Given the description of an element on the screen output the (x, y) to click on. 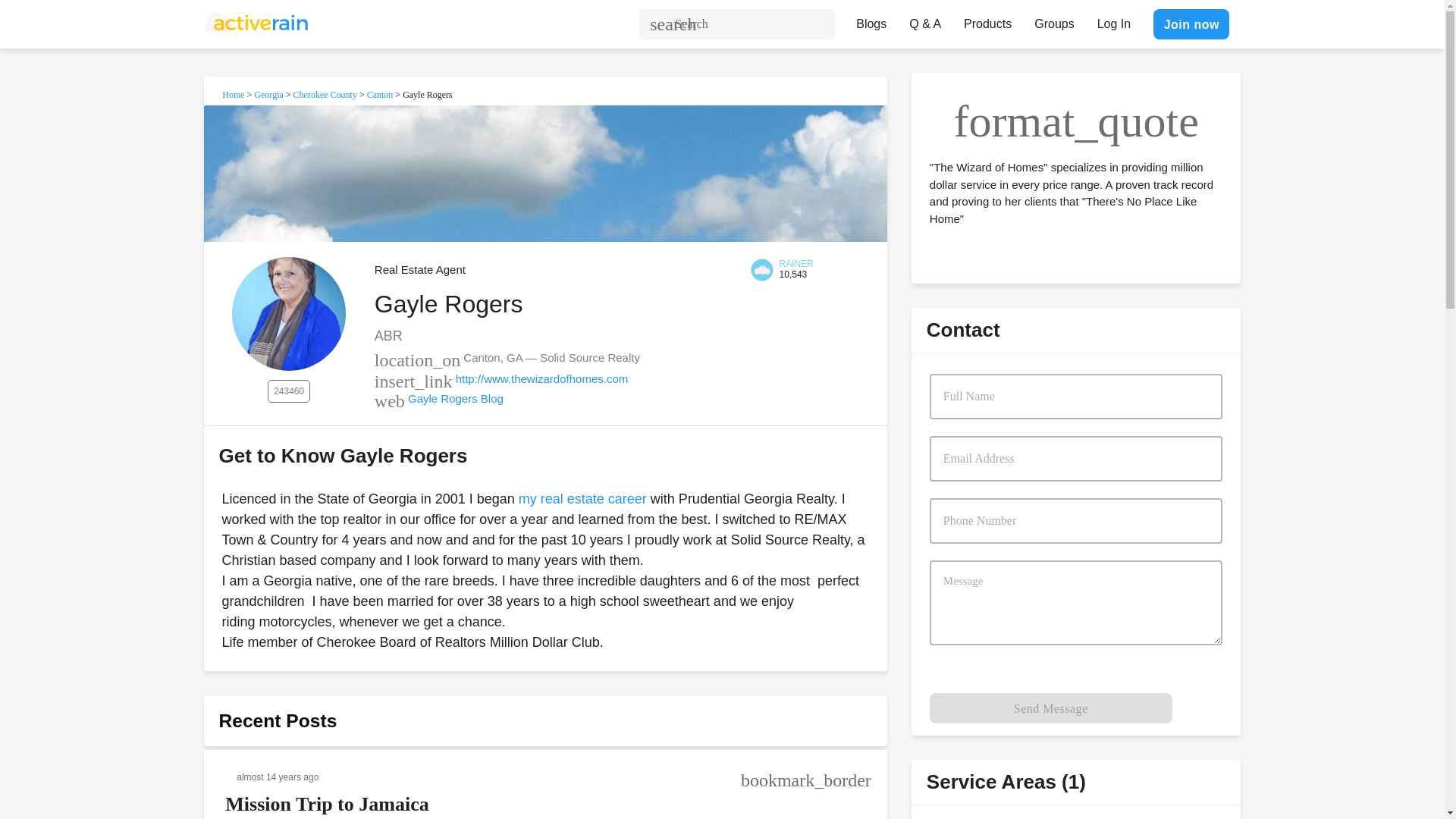
Cherokee County (325, 94)
web Gayle Rogers Blog (438, 398)
The Wizard (582, 498)
Blogs (870, 19)
my real estate career (582, 498)
Log In (1113, 19)
Georgia (267, 94)
Mission Trip to Jamaica (326, 803)
Home (233, 94)
Send Message (1051, 707)
Recent Posts (277, 720)
Products (986, 19)
Canton (379, 94)
Groups (1053, 19)
Join now (1190, 24)
